Given the description of an element on the screen output the (x, y) to click on. 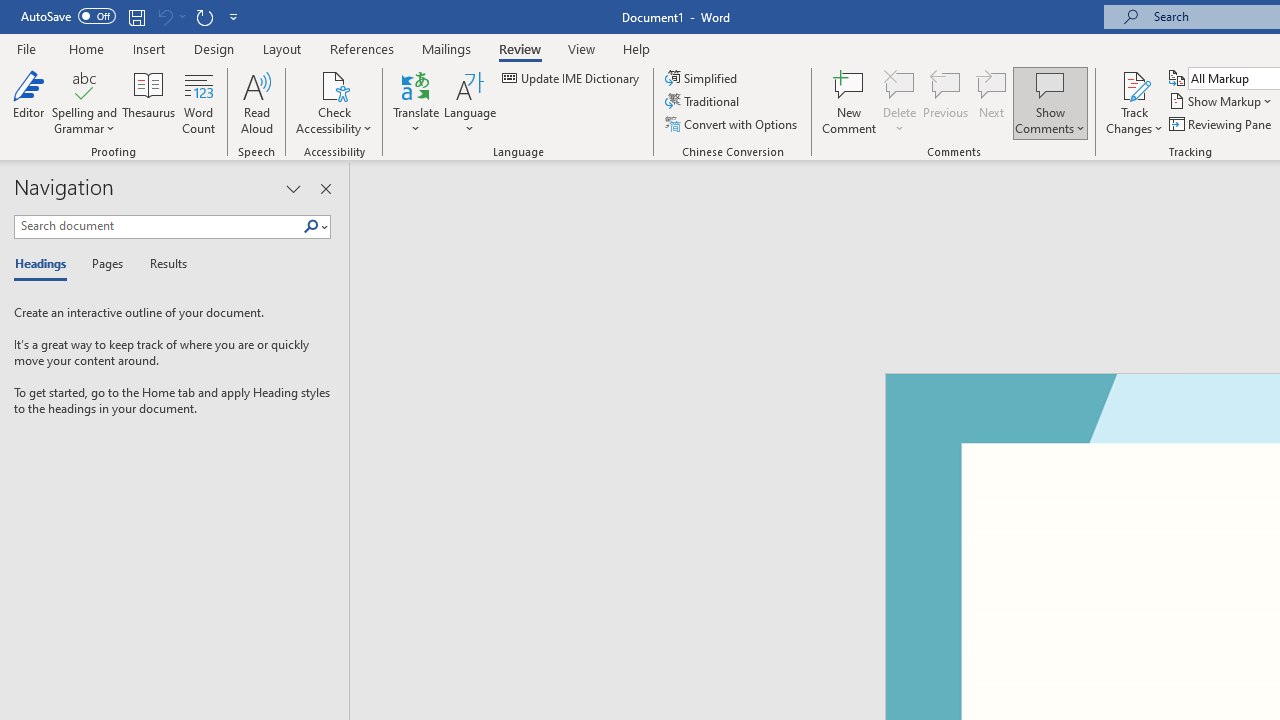
Update IME Dictionary... (572, 78)
Task Pane Options (293, 188)
Track Changes (1134, 84)
Can't Undo (170, 15)
